Given the description of an element on the screen output the (x, y) to click on. 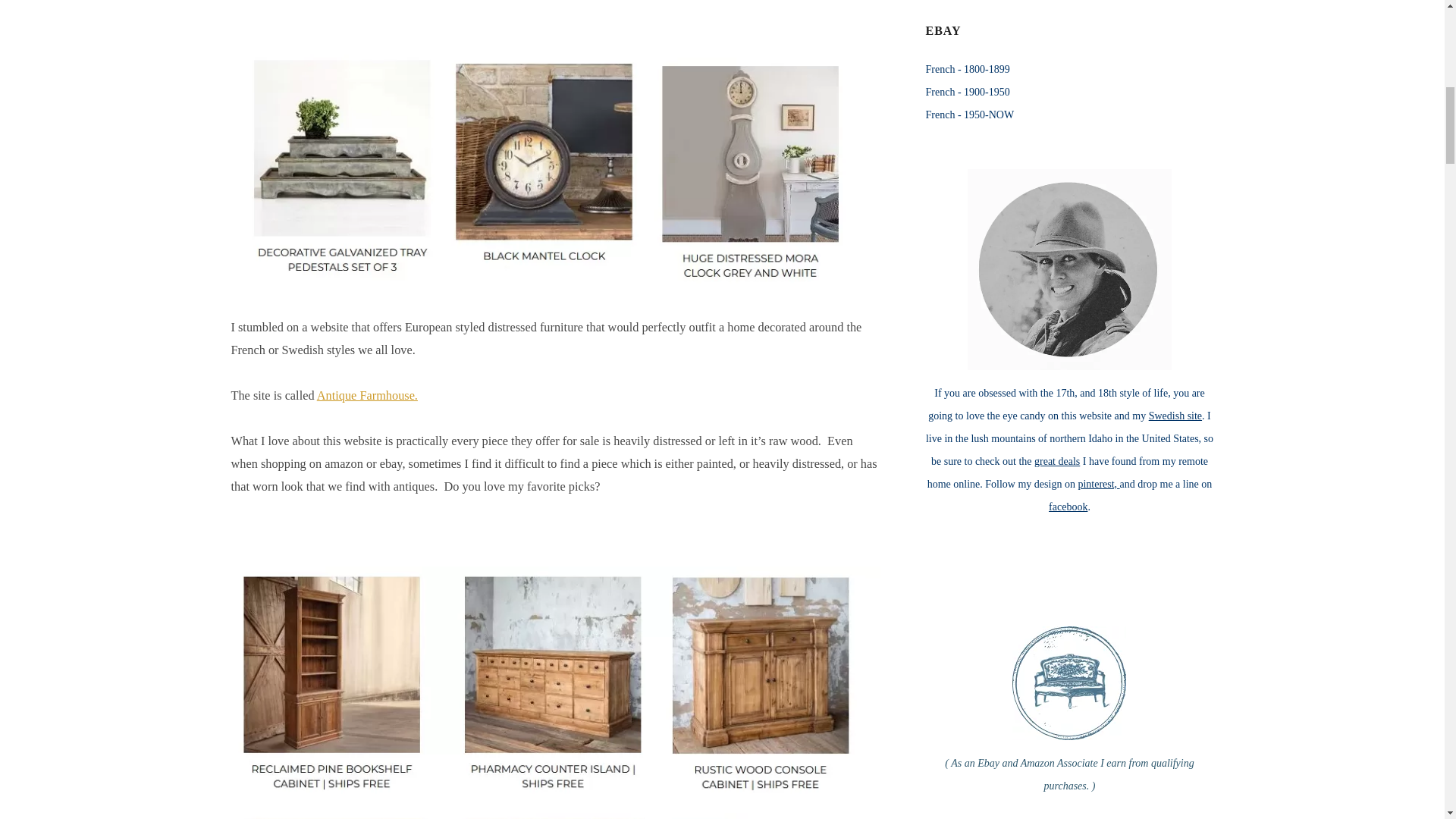
pinterest, (1098, 483)
French - 1950-NOW (968, 114)
French - 1900-1950 (966, 91)
Swedish site (1175, 415)
French - 1800-1899 (966, 69)
facebook (1067, 506)
Antique Farmhouse. (367, 395)
great deals (1056, 460)
